Given the description of an element on the screen output the (x, y) to click on. 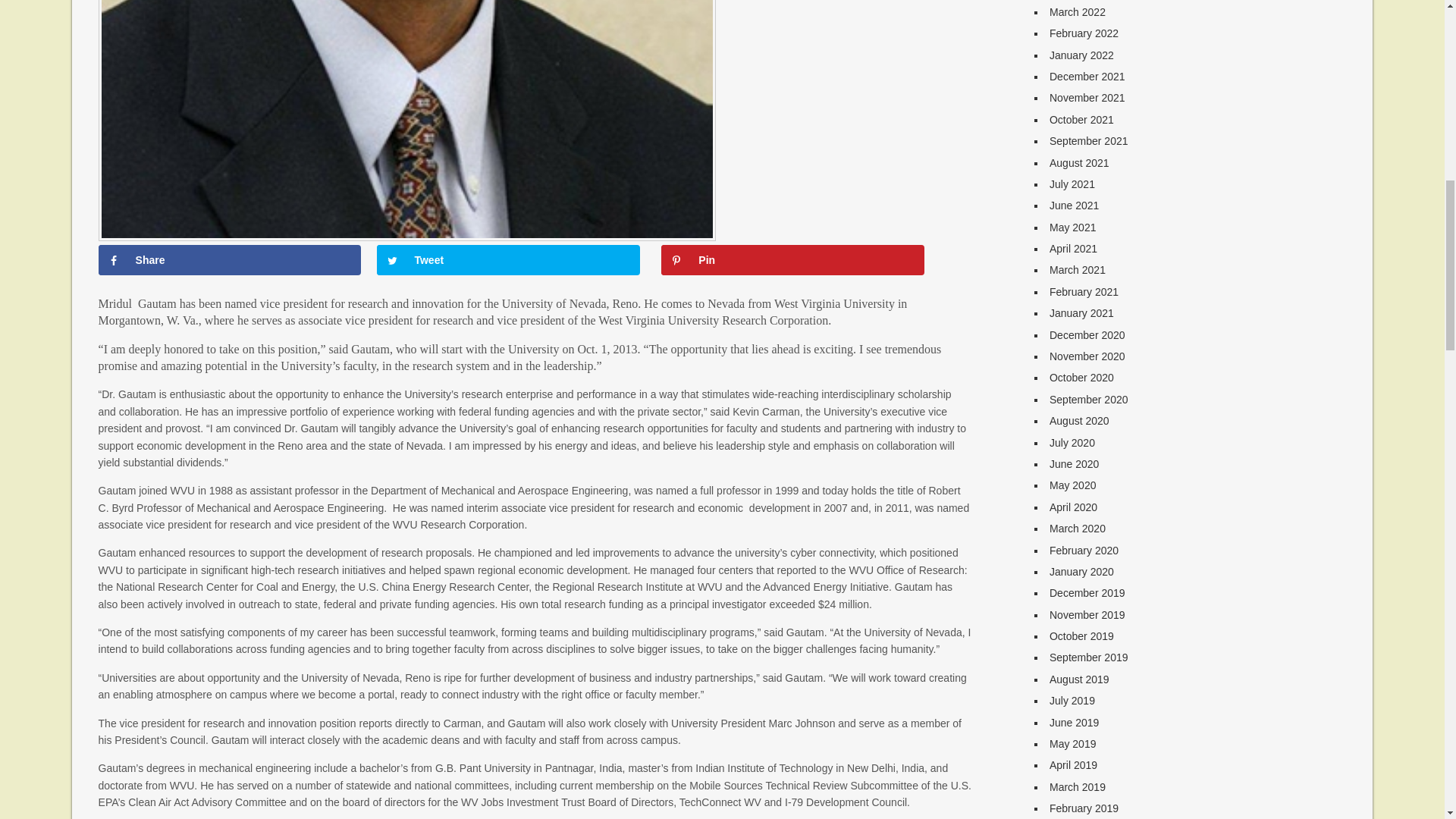
Pin (792, 259)
Share on Share (230, 259)
Save to Pinterest (792, 259)
Share (230, 259)
Share on Tweet (508, 259)
Tweet (508, 259)
